Given the description of an element on the screen output the (x, y) to click on. 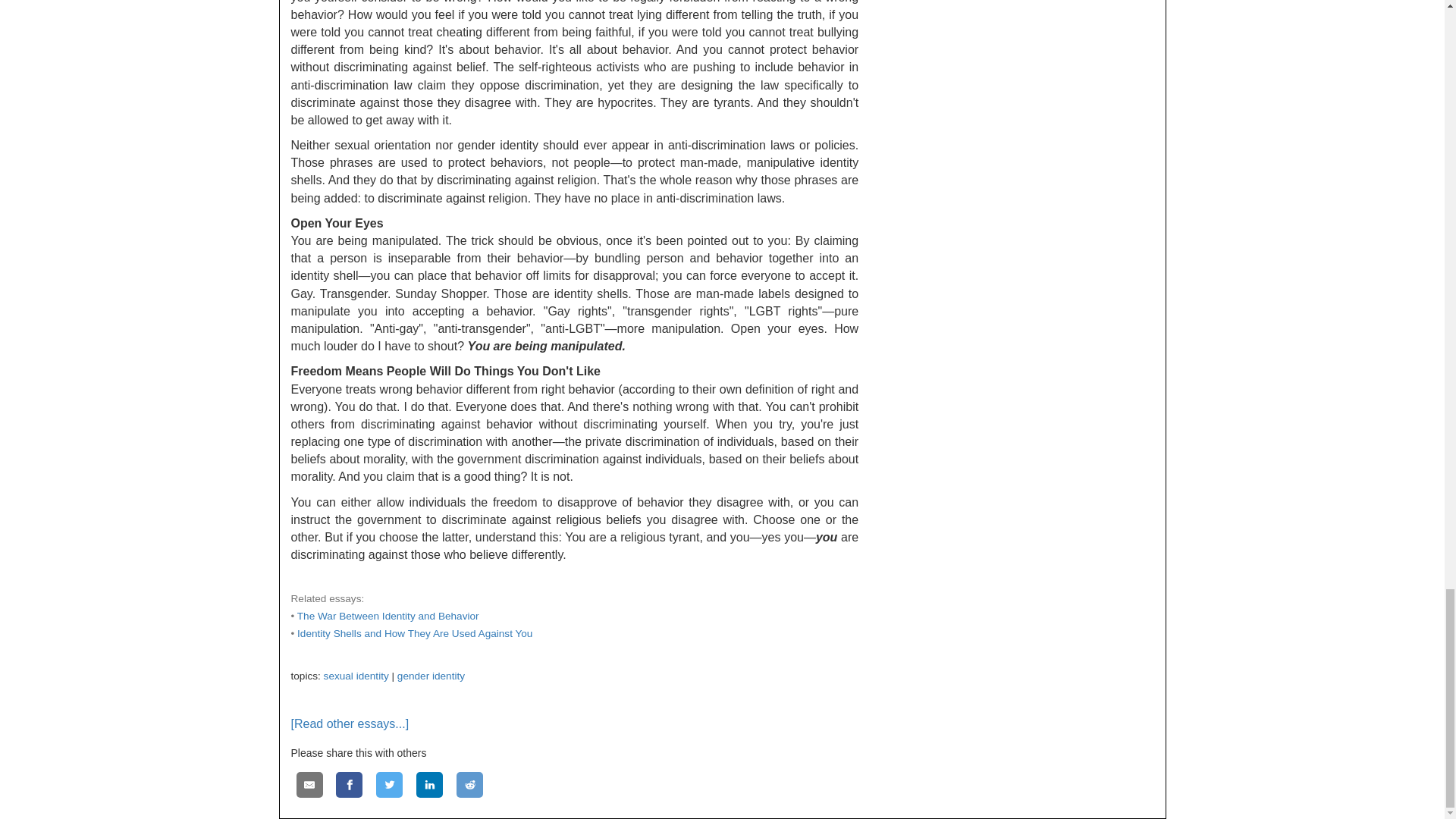
sexual identity (355, 675)
The War Between Identity and Behavior (388, 615)
gender identity (430, 675)
Identity Shells and How They Are Used Against You (414, 633)
